Given the description of an element on the screen output the (x, y) to click on. 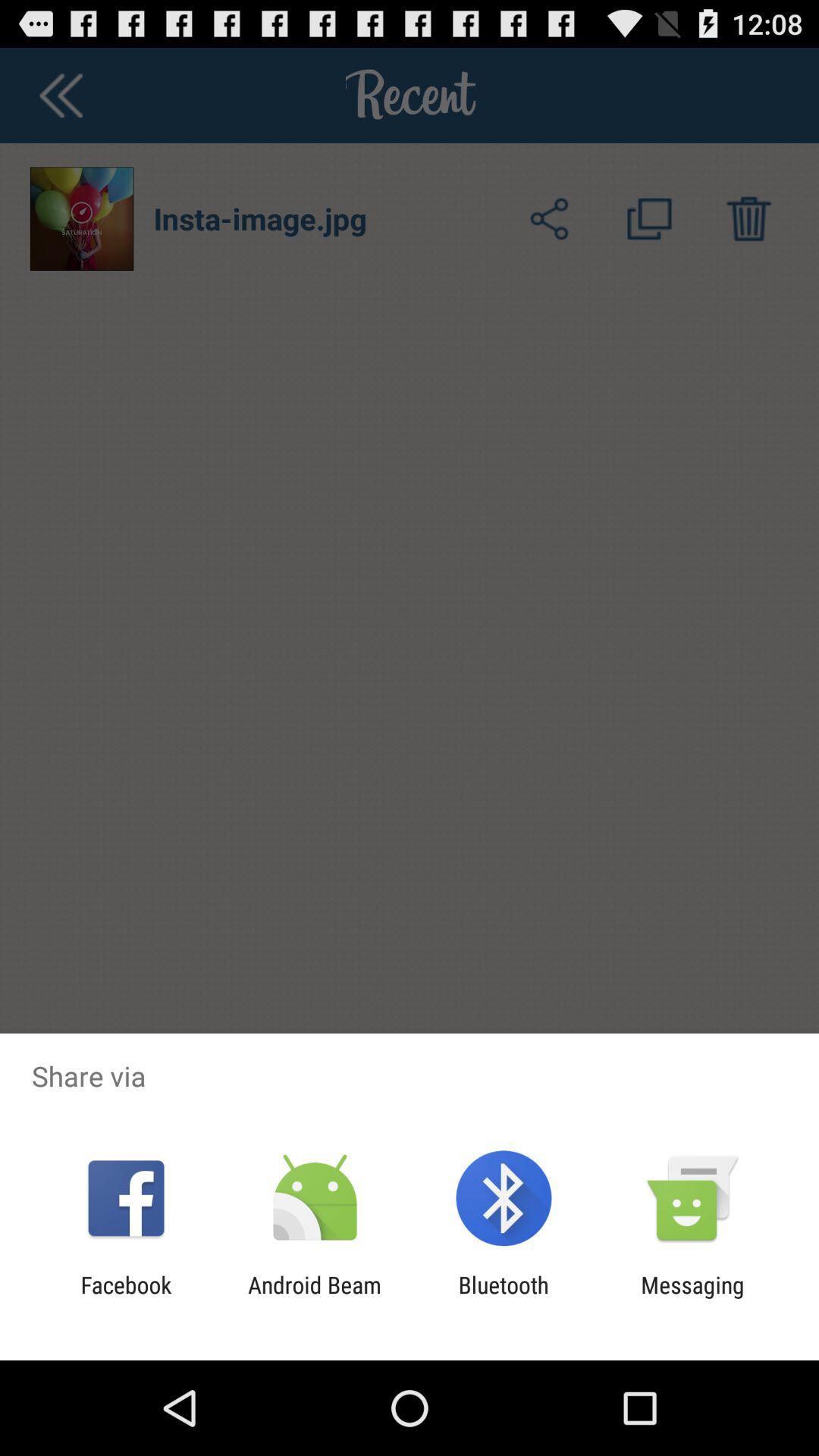
press item next to the bluetooth app (314, 1298)
